Given the description of an element on the screen output the (x, y) to click on. 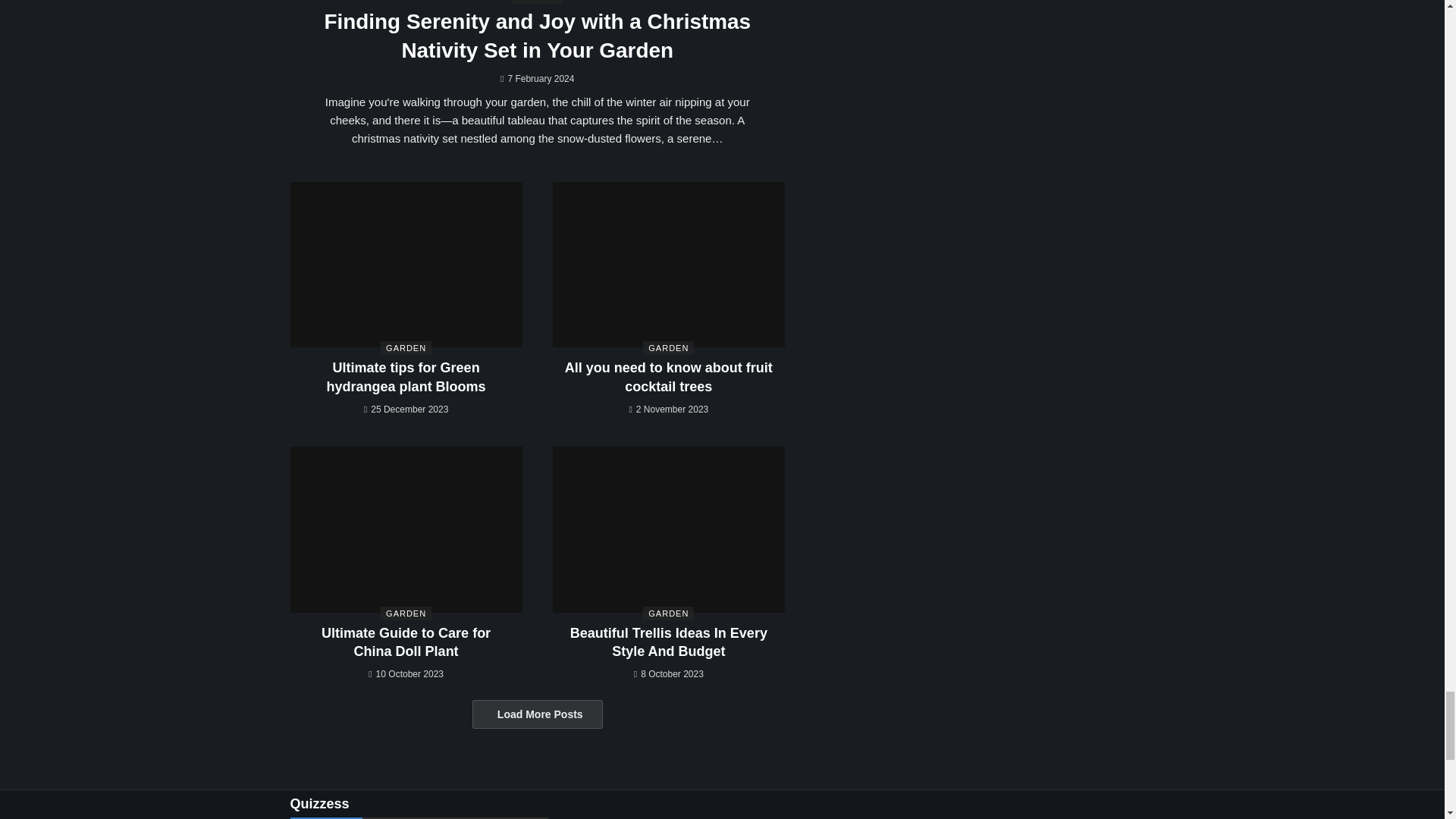
Beautiful Trellis Ideas In Every Style And Budget (668, 642)
Ultimate tips for Green hydrangea plant Blooms (405, 264)
Ultimate tips for Green hydrangea plant Blooms (406, 376)
All you need to know about fruit cocktail trees (668, 376)
Beautiful Trellis Ideas In Every Style And Budget (668, 529)
Load More Posts (536, 714)
All you need to know about fruit cocktail trees (668, 264)
Ultimate Guide to Care for China Doll Plant (405, 529)
Ultimate Guide to Care for China Doll Plant (405, 642)
